Given the description of an element on the screen output the (x, y) to click on. 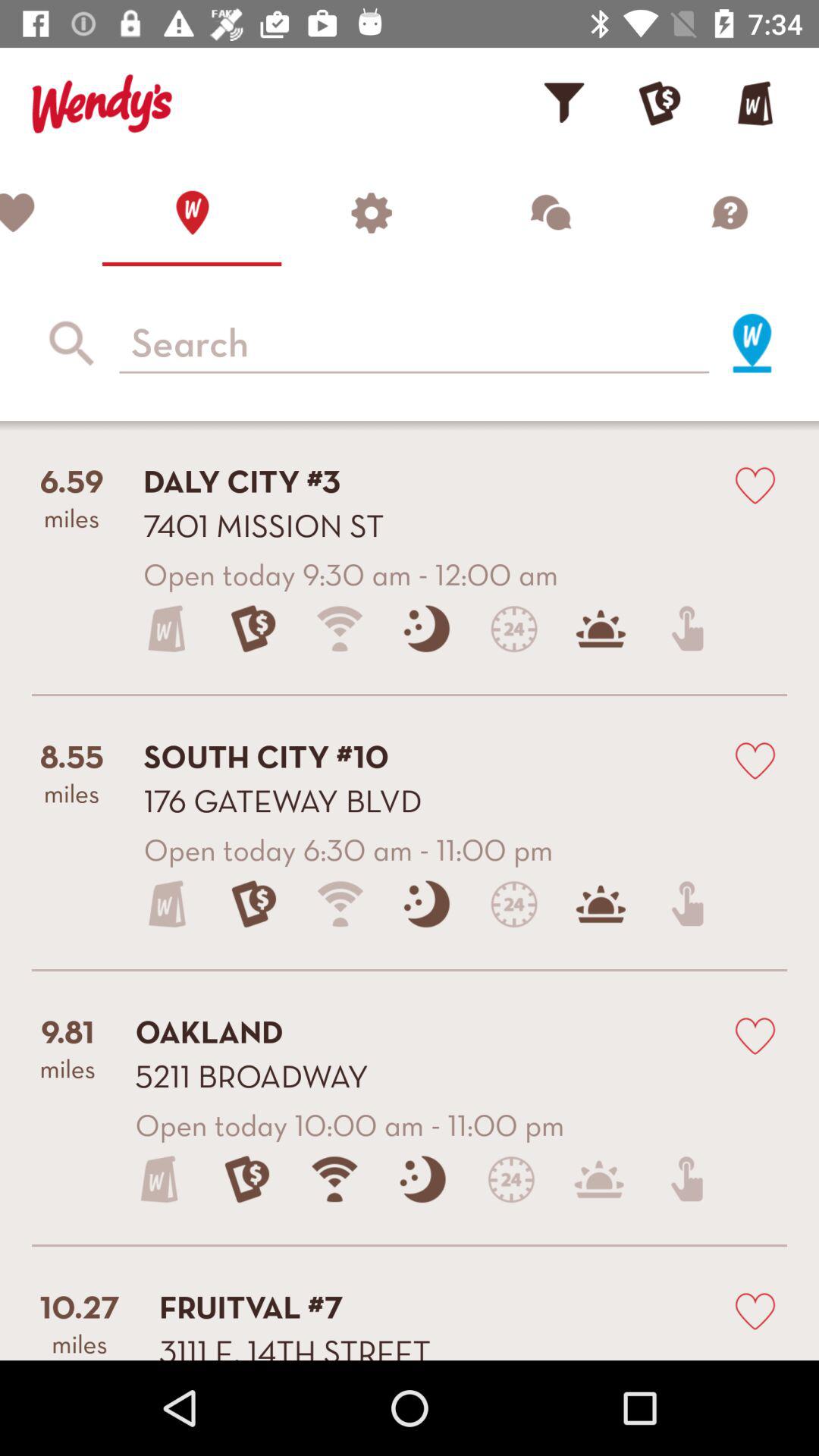
locate a restaurant (191, 212)
